Given the description of an element on the screen output the (x, y) to click on. 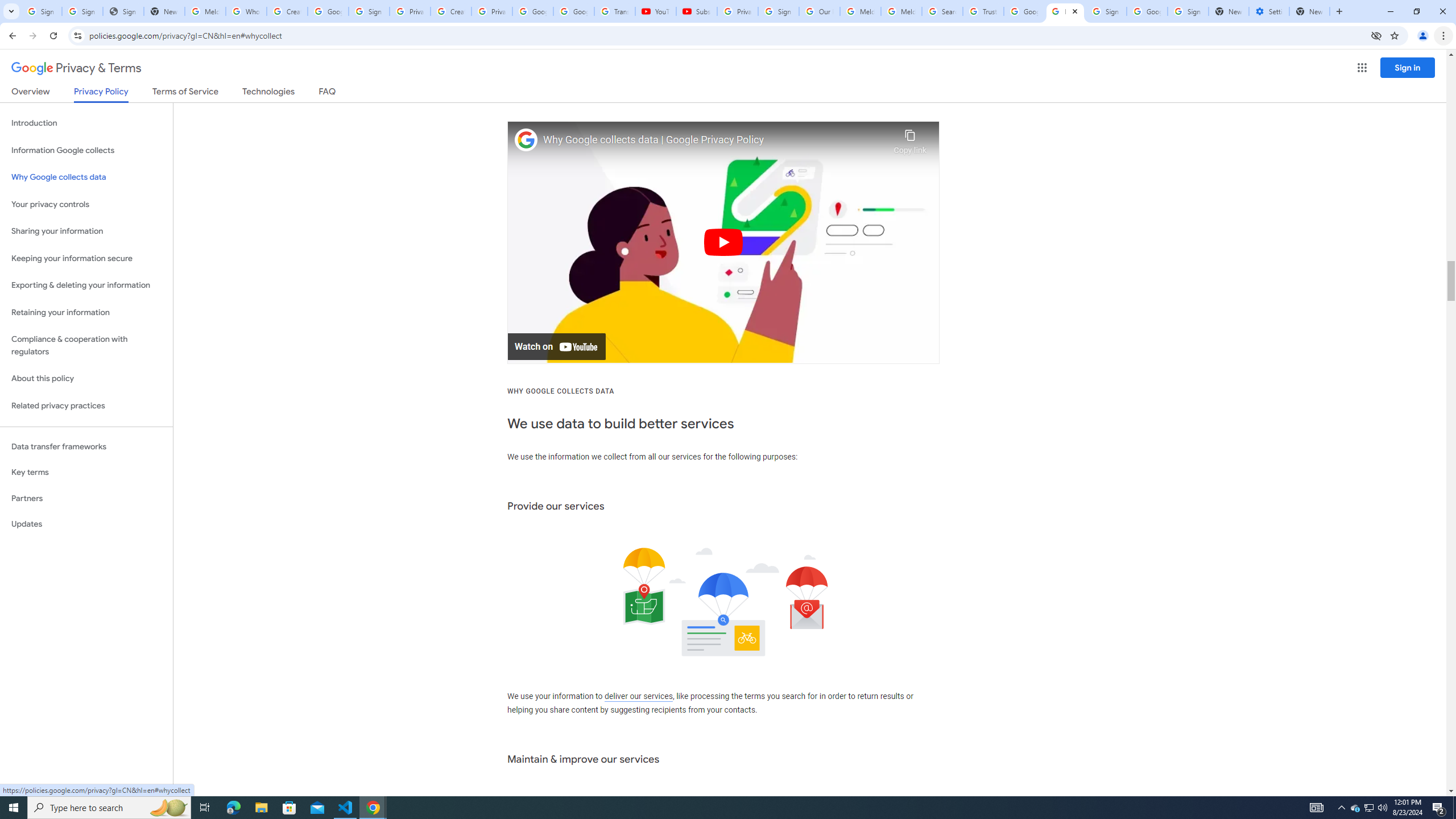
Partners (86, 497)
Search our Doodle Library Collection - Google Doodles (942, 11)
Create your Google Account (287, 11)
Data transfer frameworks (86, 446)
Related privacy practices (86, 405)
Why Google collects data (86, 176)
Sign in - Google Accounts (1105, 11)
YouTube (655, 11)
